Given the description of an element on the screen output the (x, y) to click on. 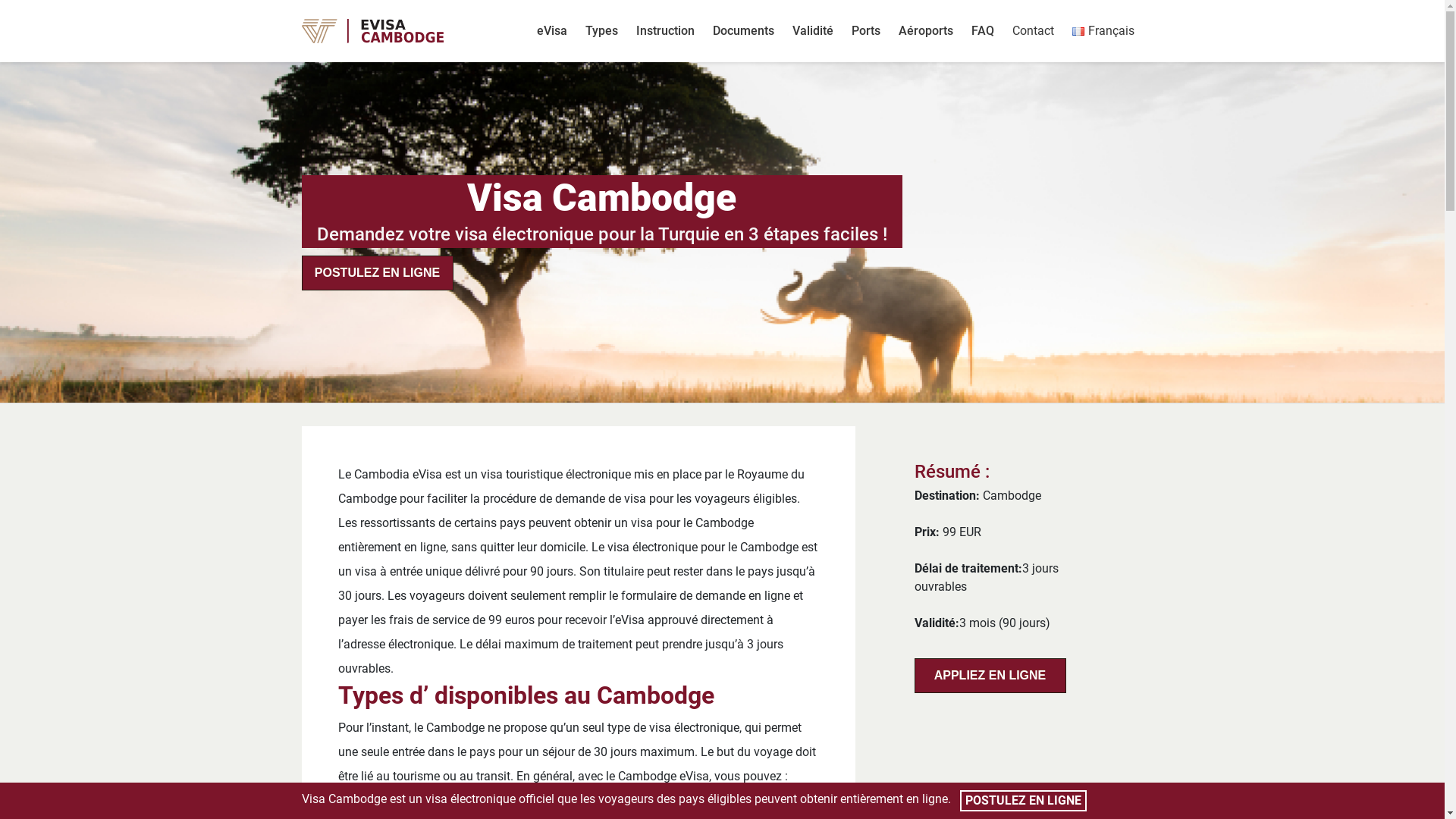
Page d'accueil Element type: hover (393, 30)
APPLIEZ EN LIGNE Element type: text (990, 675)
Documents Element type: text (743, 31)
POSTULEZ EN LIGNE Element type: text (1023, 800)
Ports Element type: text (865, 31)
eVisa Element type: text (551, 31)
Types Element type: text (601, 31)
Contact Element type: text (1033, 31)
Instruction Element type: text (665, 31)
FAQ Element type: text (982, 31)
POSTULEZ EN LIGNE Element type: text (377, 271)
